Given the description of an element on the screen output the (x, y) to click on. 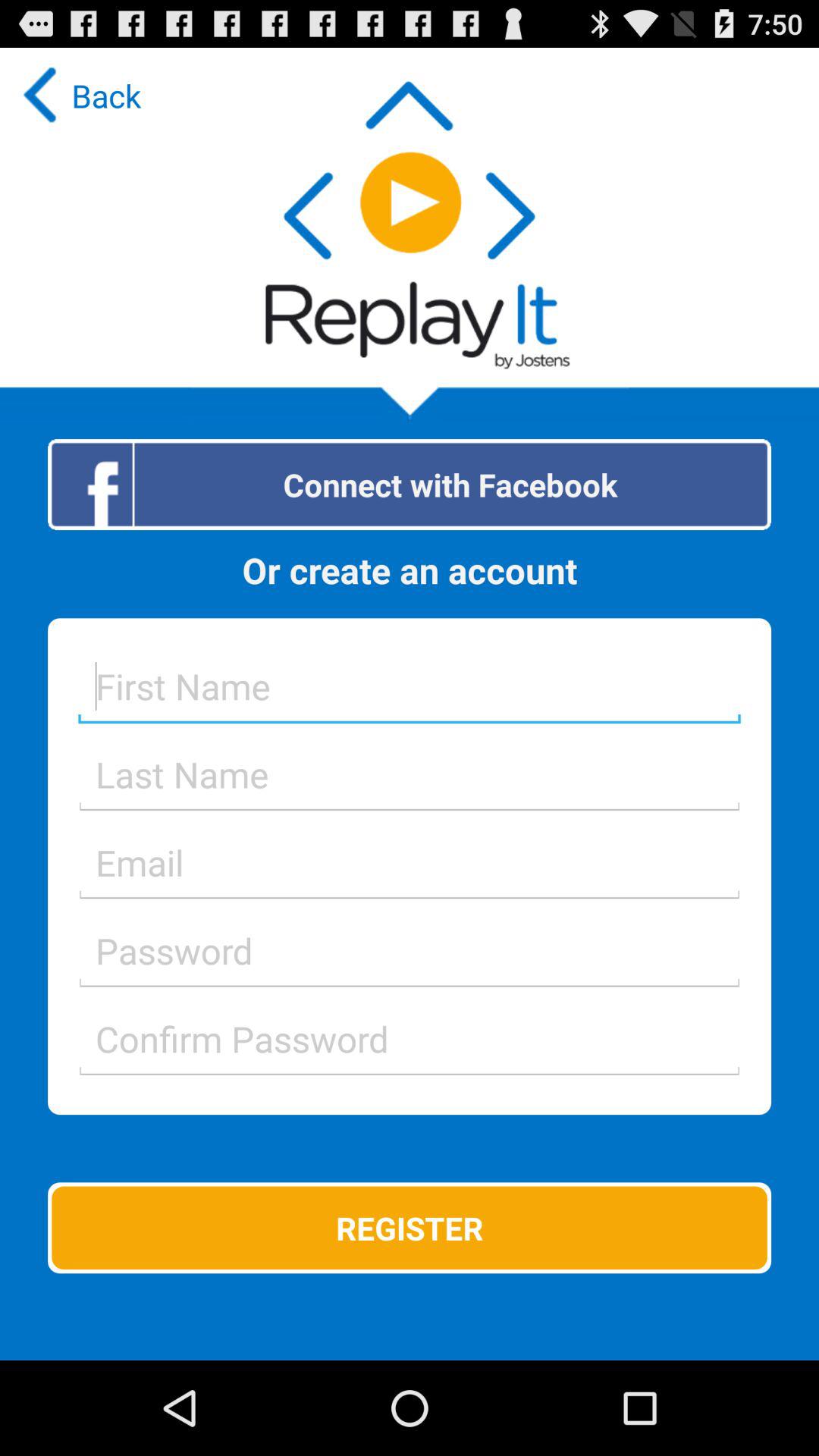
open the item above the or create an icon (409, 484)
